Given the description of an element on the screen output the (x, y) to click on. 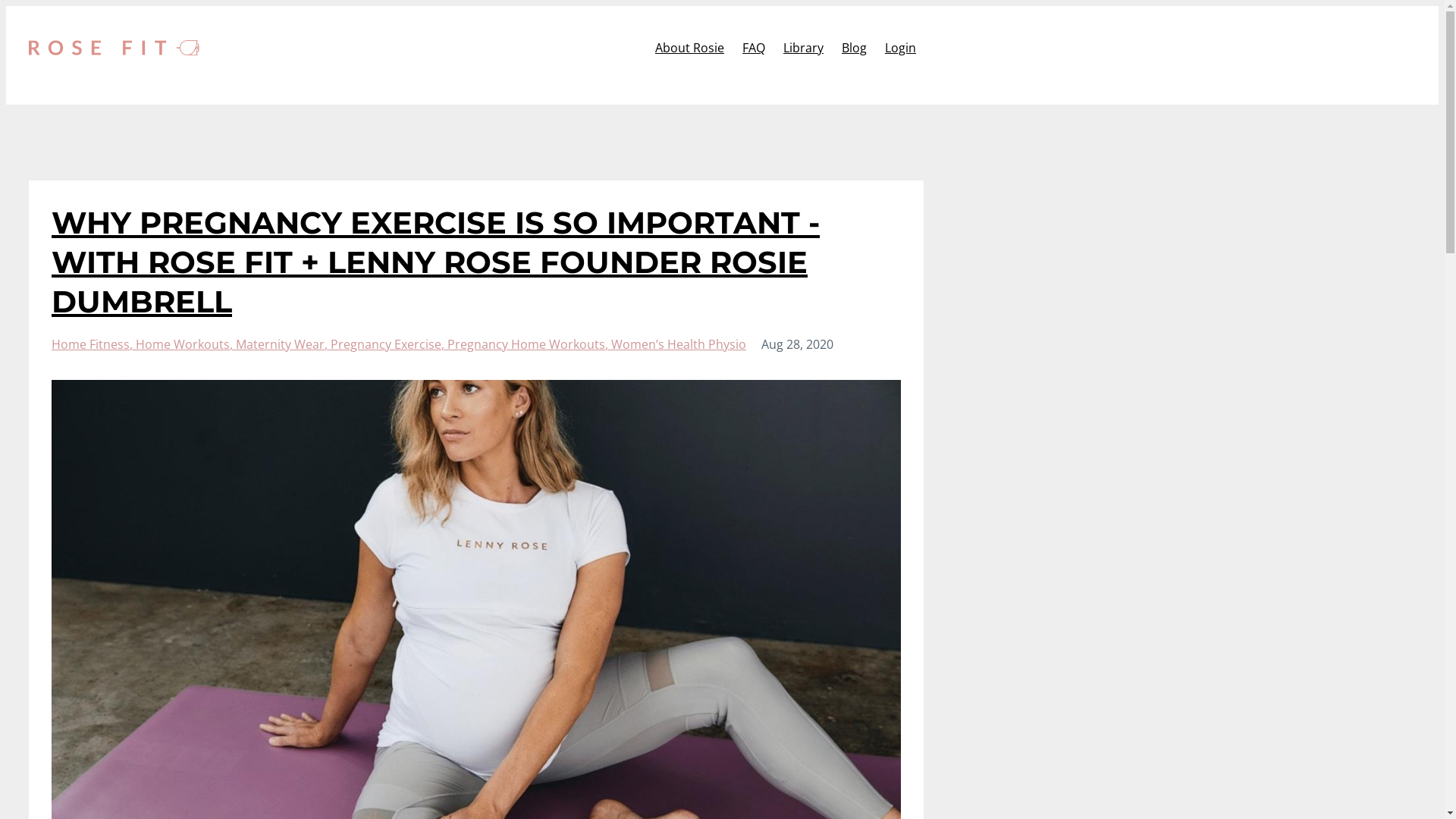
Home Workouts Element type: text (185, 343)
Maternity Wear Element type: text (282, 343)
Blog Element type: text (853, 47)
Pregnancy Exercise Element type: text (388, 343)
Home Fitness Element type: text (93, 343)
Pregnancy Home Workouts Element type: text (529, 343)
Library Element type: text (803, 47)
About Rosie Element type: text (689, 47)
Login Element type: text (900, 47)
FAQ Element type: text (753, 47)
